Given the description of an element on the screen output the (x, y) to click on. 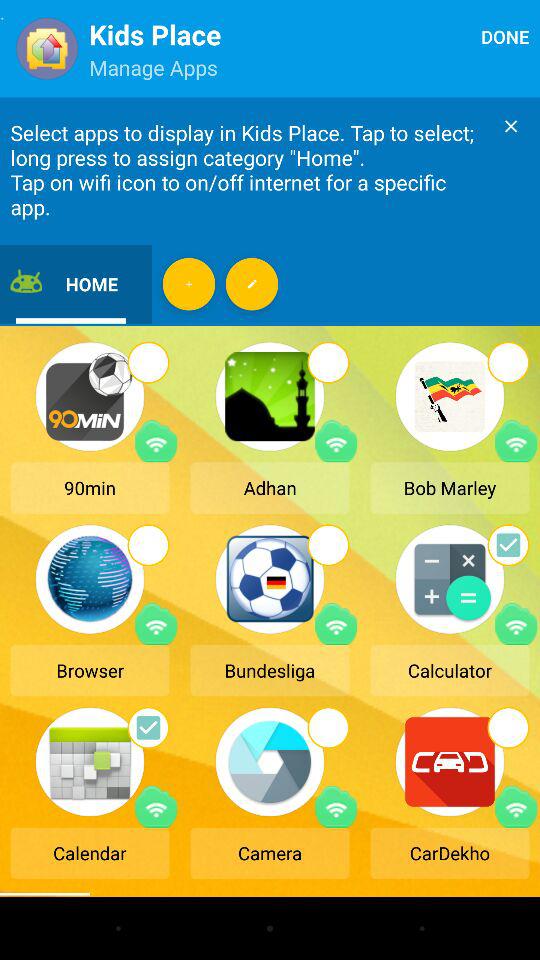
close (511, 126)
